Given the description of an element on the screen output the (x, y) to click on. 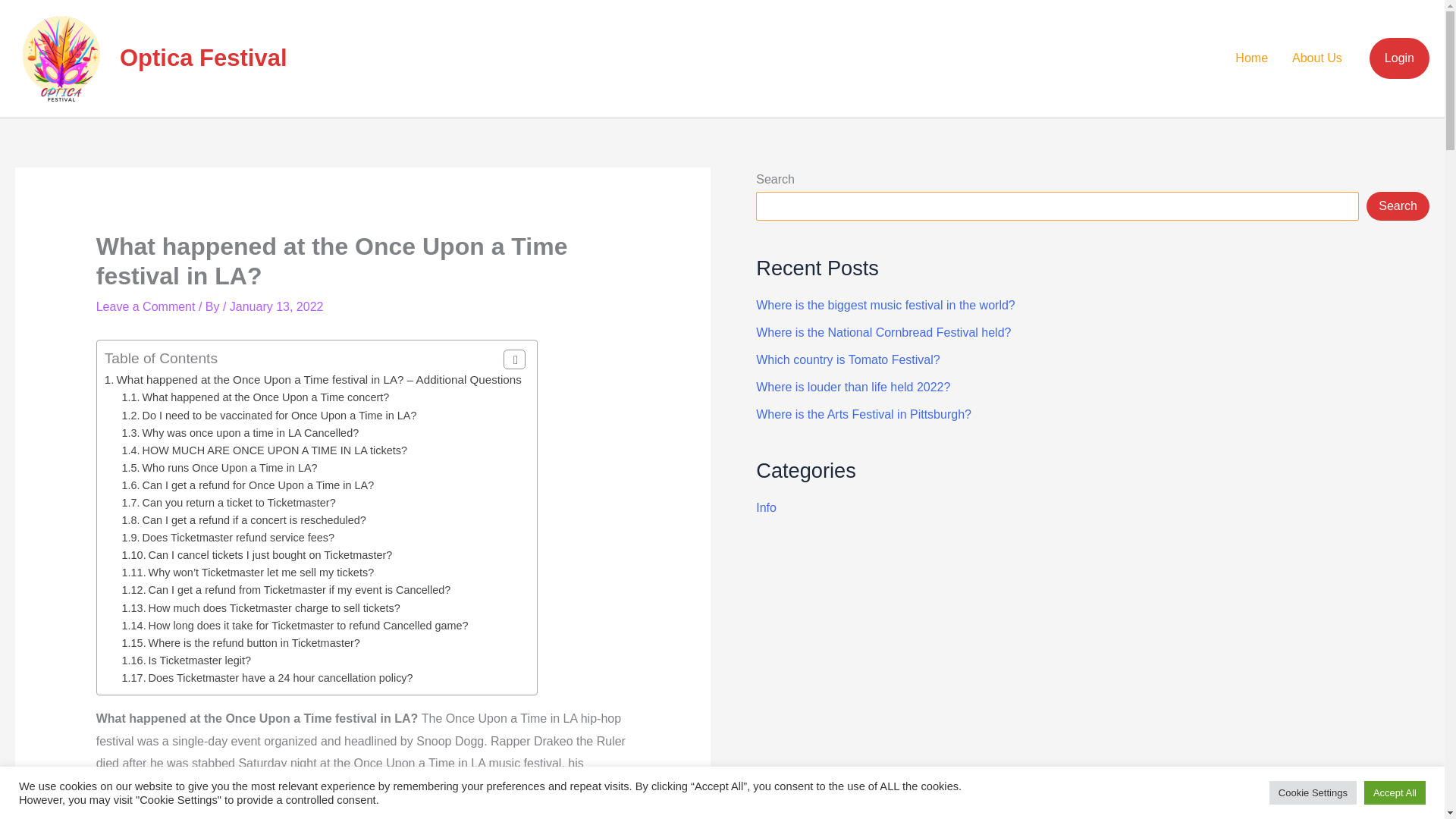
Can you return a ticket to Ticketmaster? (229, 502)
Can I get a refund if a concert is rescheduled? (244, 520)
Can I cancel tickets I just bought on Ticketmaster? (257, 554)
Can I get a refund for Once Upon a Time in LA? (248, 485)
Leave a Comment (145, 306)
How much does Ticketmaster charge to sell tickets? (261, 607)
Can you return a ticket to Ticketmaster? (229, 502)
Who runs Once Upon a Time in LA? (219, 467)
Login (1399, 57)
Where is the refund button in Ticketmaster? (240, 643)
